Given the description of an element on the screen output the (x, y) to click on. 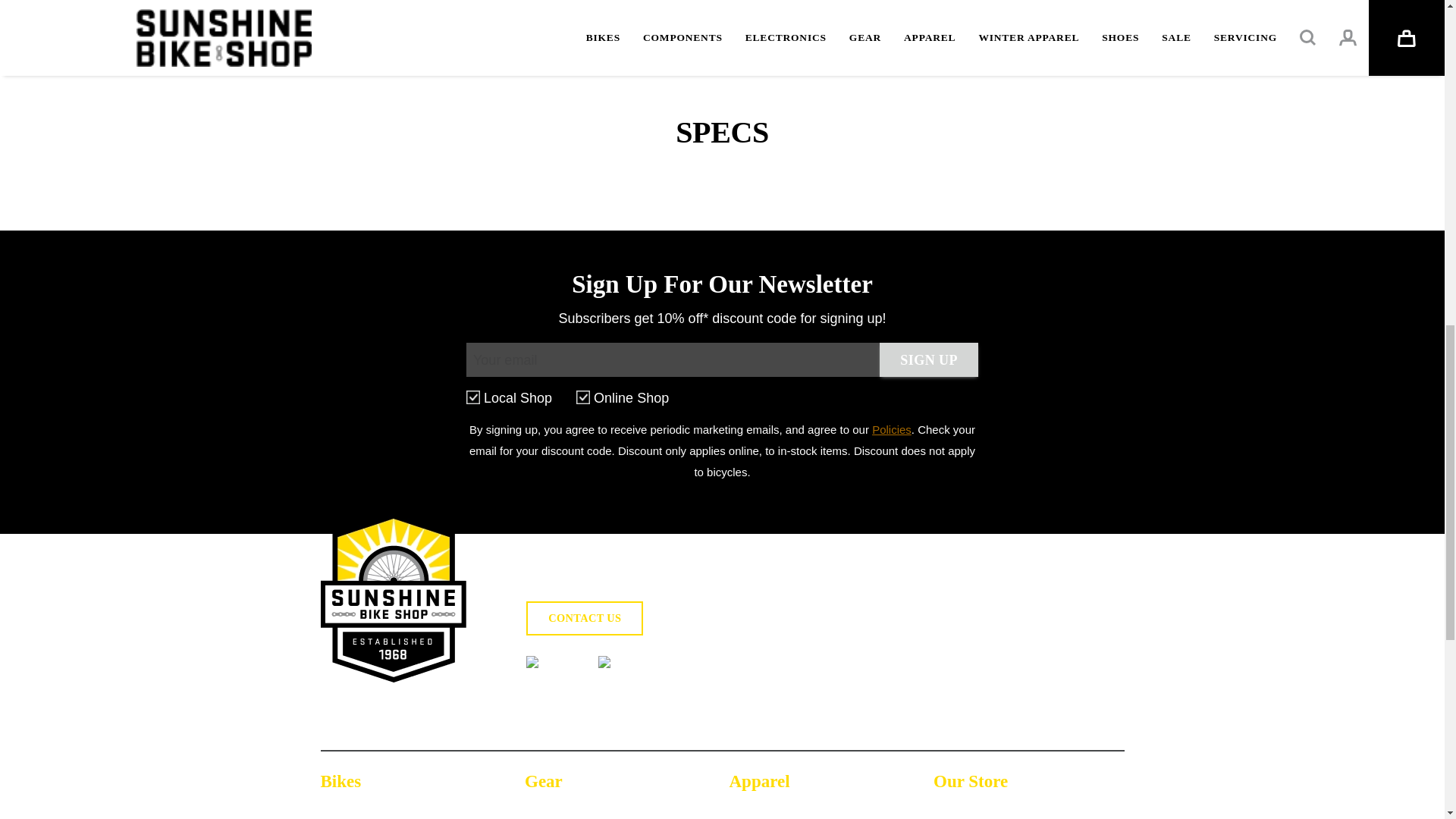
Sign Up (928, 359)
